Given the description of an element on the screen output the (x, y) to click on. 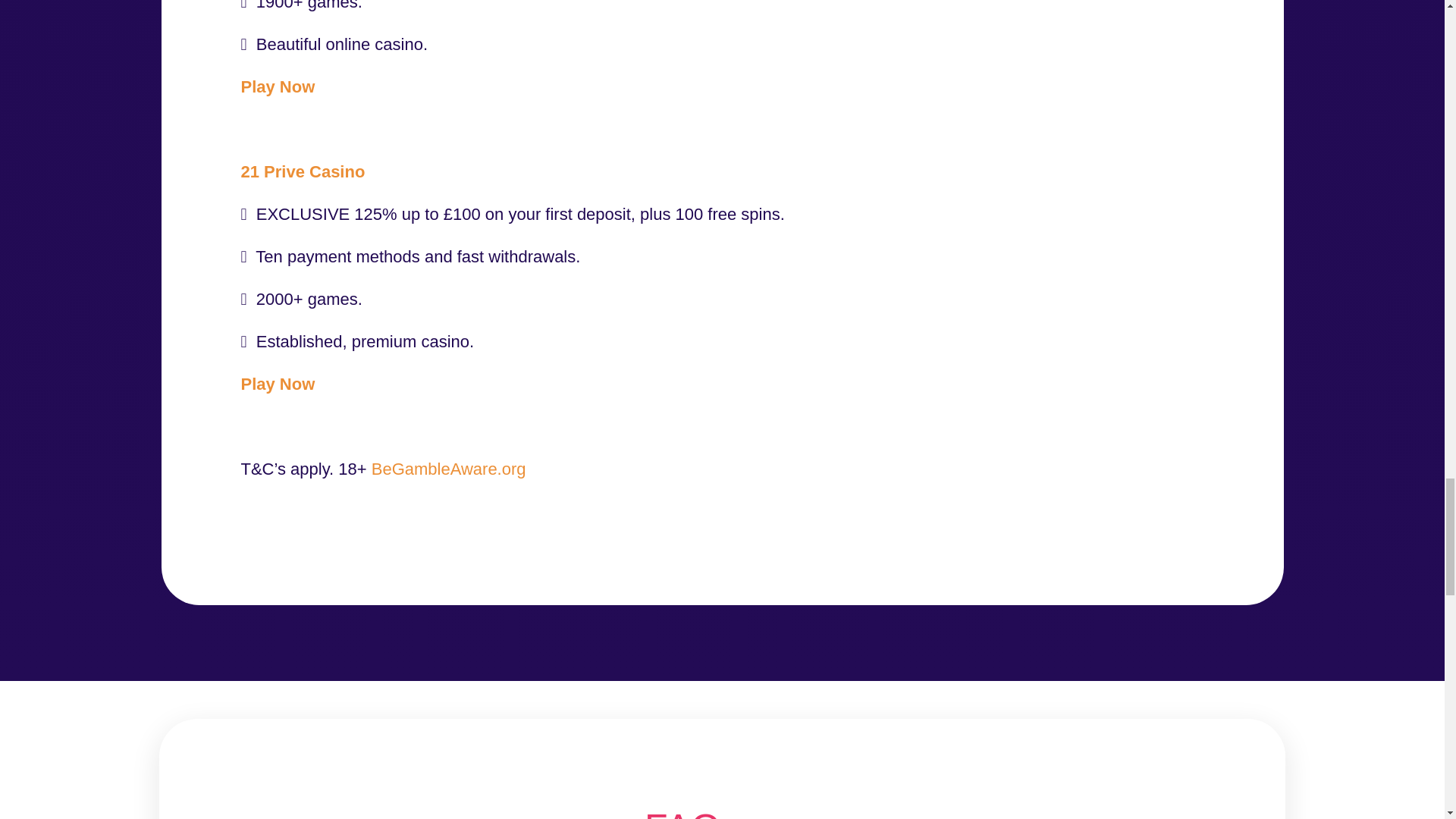
21 Prive Casino (303, 171)
Play Now (278, 86)
Play Now (278, 383)
BeGambleAware.org (448, 468)
